Given the description of an element on the screen output the (x, y) to click on. 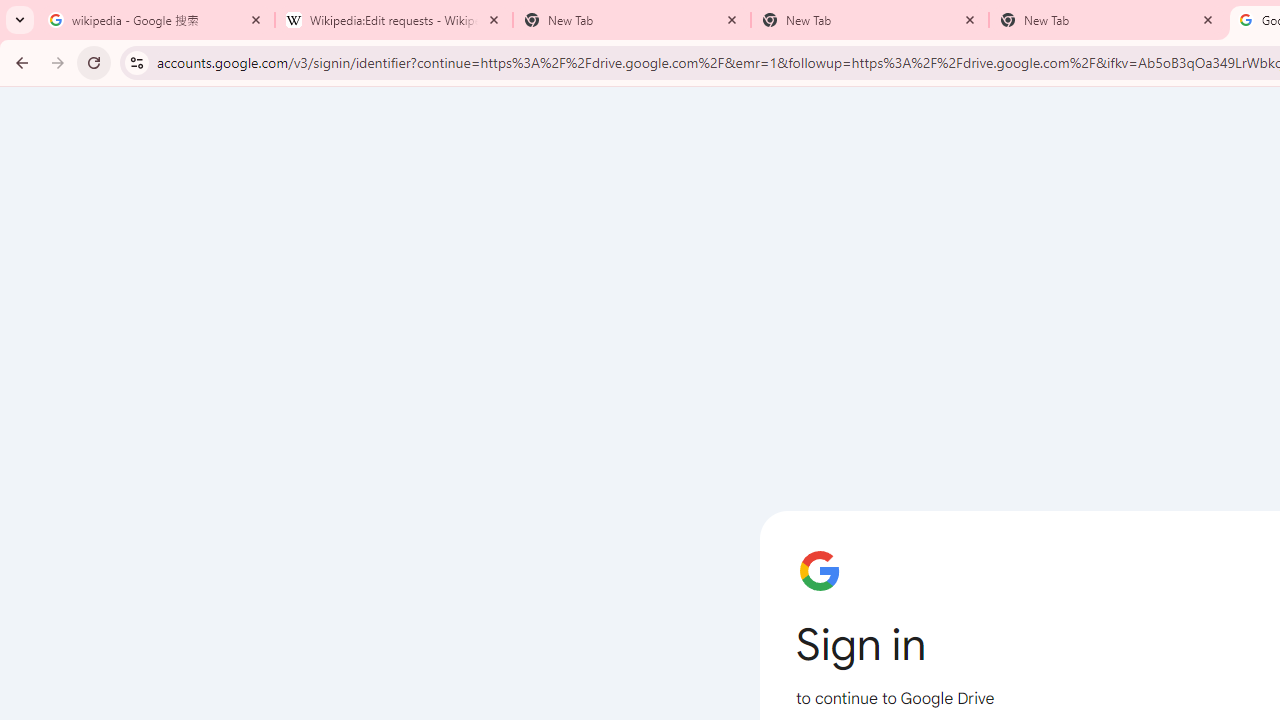
Back (19, 62)
New Tab (870, 20)
View site information (136, 62)
Reload (93, 62)
New Tab (1108, 20)
Search tabs (20, 20)
Forward (57, 62)
Wikipedia:Edit requests - Wikipedia (394, 20)
